Given the description of an element on the screen output the (x, y) to click on. 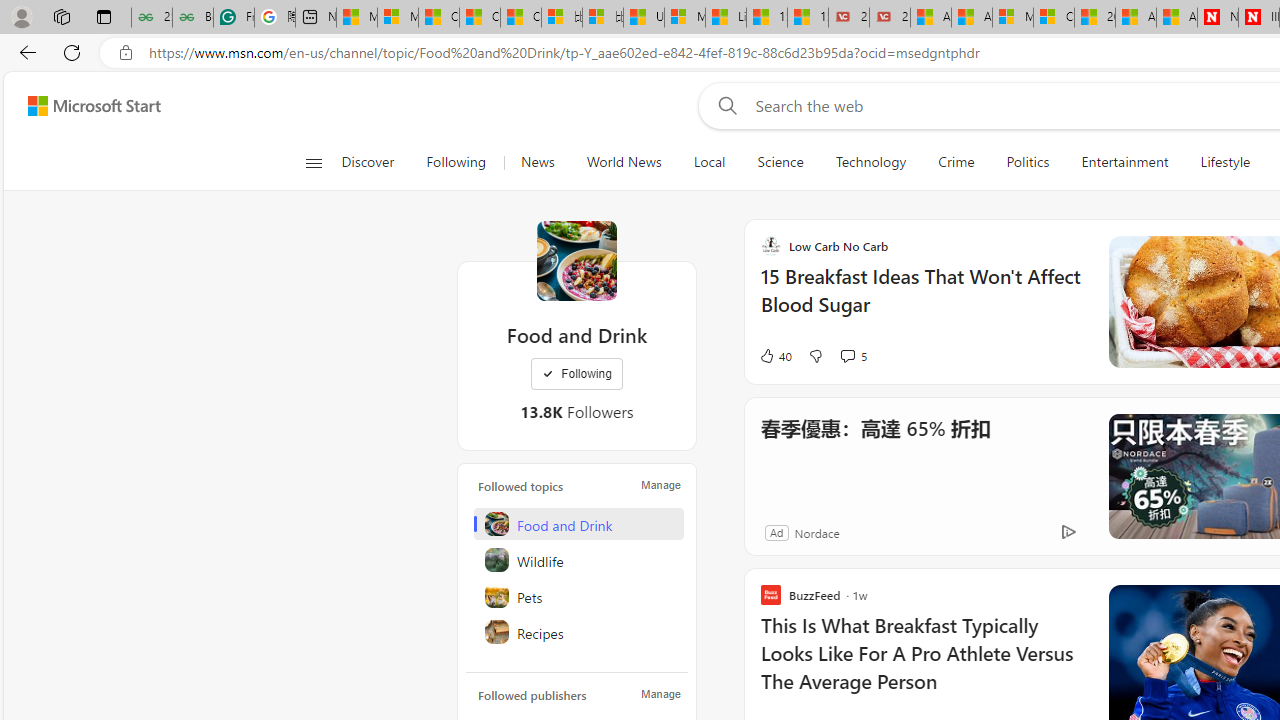
Pets (578, 596)
Cloud Computing Services | Microsoft Azure (1053, 17)
Wildlife (578, 560)
Lifestyle - MSN (726, 17)
